Given the description of an element on the screen output the (x, y) to click on. 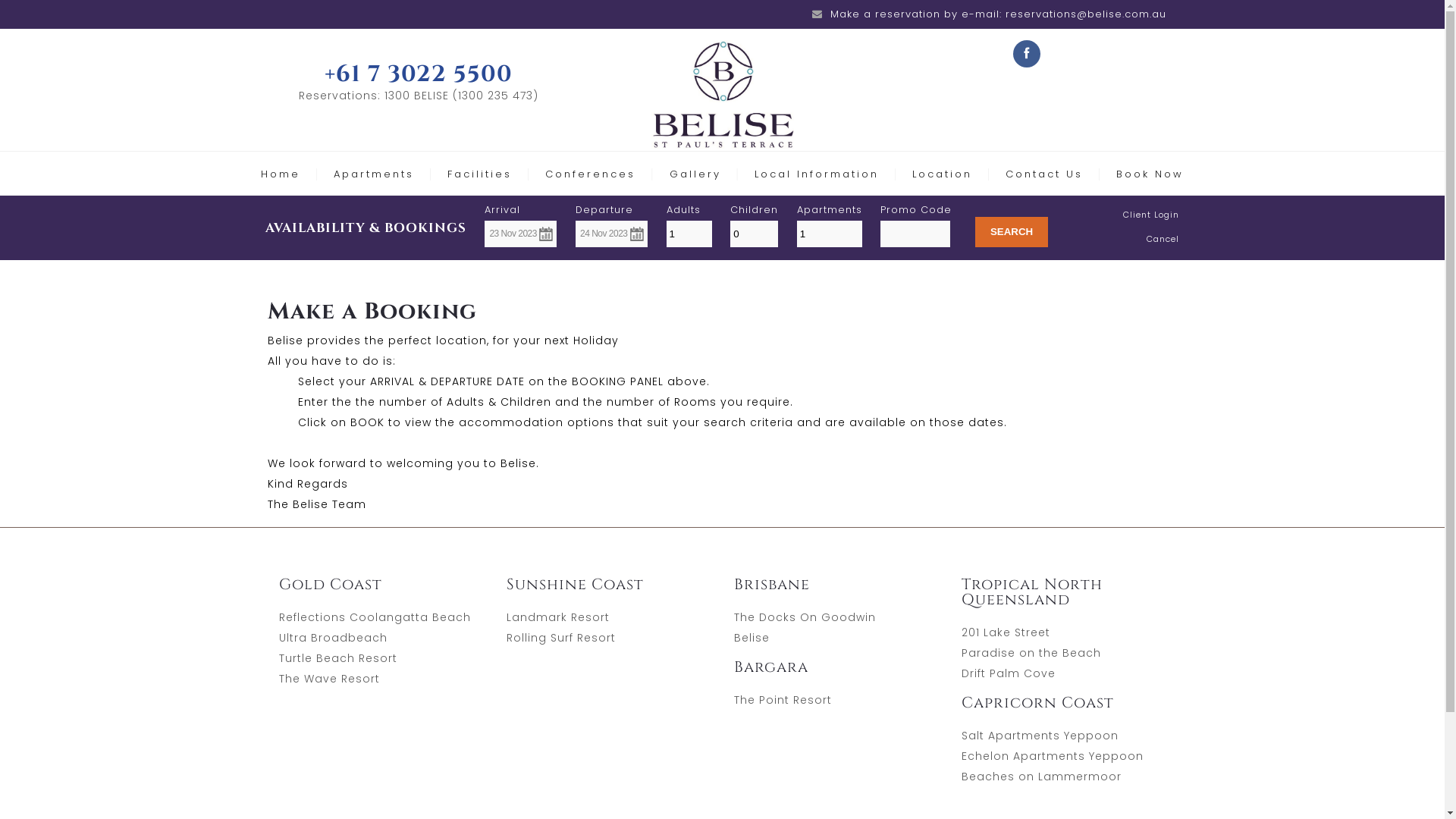
The Docks On Goodwin Element type: text (804, 616)
Apartments Element type: text (373, 173)
Cancel Element type: text (1162, 238)
Client Login Element type: text (1151, 214)
Beaches on Lammermoor Element type: text (1041, 776)
The Point Resort Element type: text (782, 699)
Book Now Element type: text (1149, 173)
Gallery Element type: text (694, 173)
The Wave Resort Element type: text (329, 678)
Reflections Coolangatta Beach Element type: text (374, 616)
Belise Element type: text (751, 637)
Salt Apartments Yeppoon Element type: text (1039, 735)
Turtle Beach Resort Element type: text (338, 657)
Ultra Broadbeach Element type: text (333, 637)
Make a reservation by e-mail: reservations@belise.com.au Element type: text (997, 13)
Conferences Element type: text (590, 173)
Landmark Resort Element type: text (557, 616)
Drift Palm Cove Element type: text (1008, 672)
Location Element type: text (942, 173)
201 Lake Street Element type: text (1005, 632)
SEARCH Element type: text (1011, 231)
Home Element type: text (280, 173)
Facilities Element type: text (479, 173)
Local Information Element type: text (816, 173)
Contact Us Element type: text (1043, 173)
Paradise on the Beach Element type: text (1031, 652)
Rolling Surf Resort Element type: text (560, 637)
Echelon Apartments Yeppoon Element type: text (1052, 755)
